Given the description of an element on the screen output the (x, y) to click on. 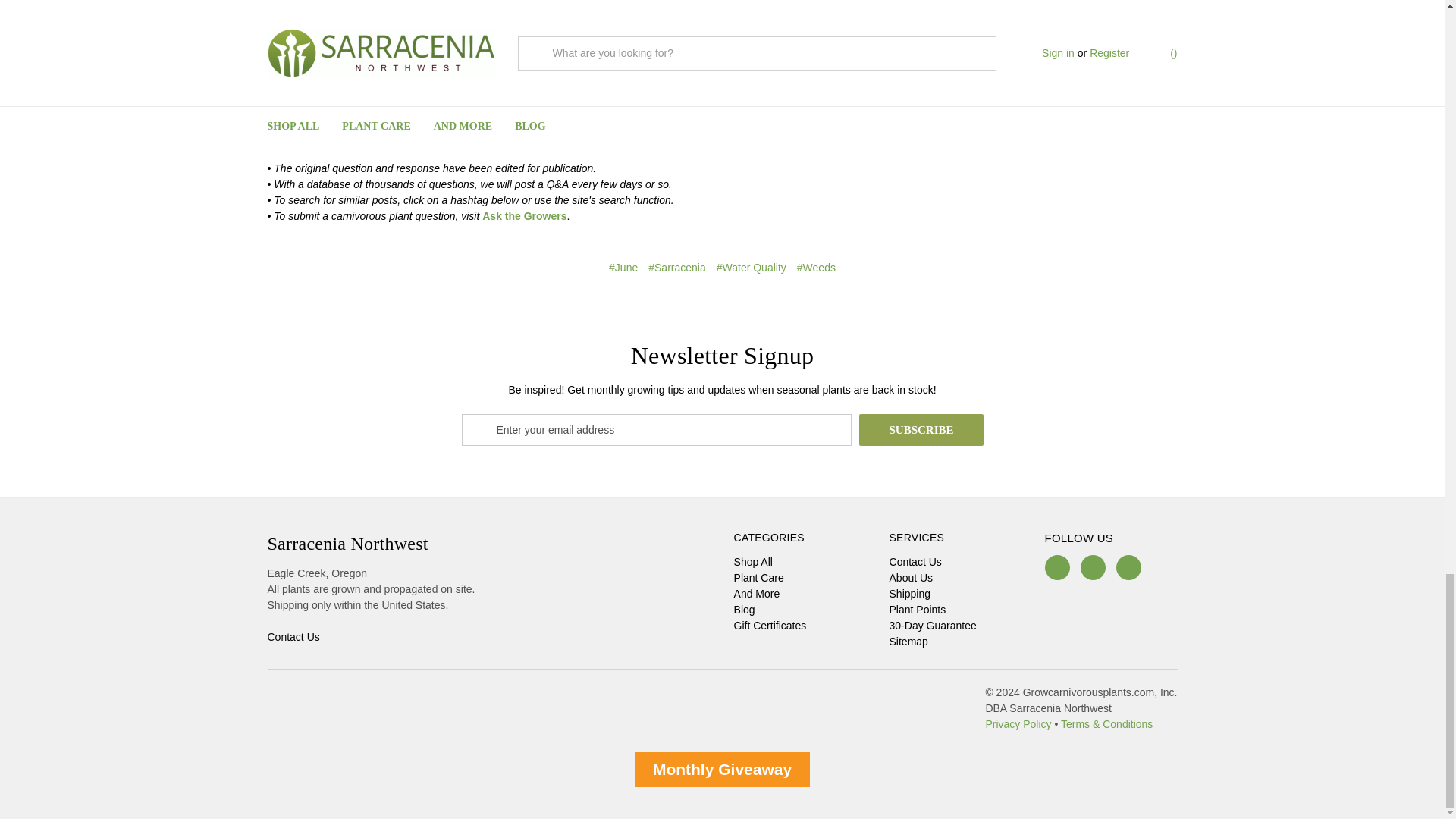
Subscribe (920, 429)
